Given the description of an element on the screen output the (x, y) to click on. 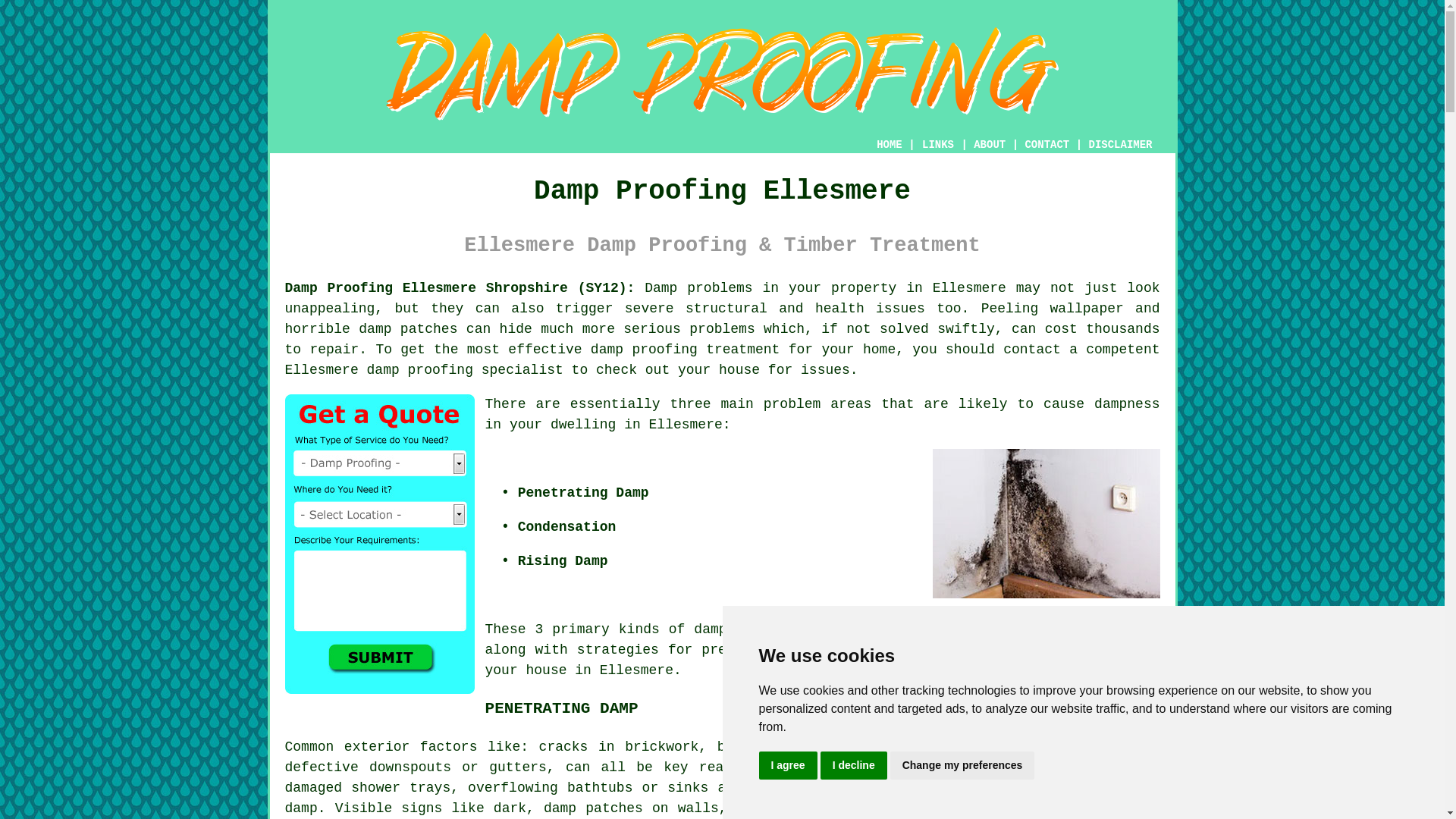
HOME (889, 144)
Damp Proofing Ellesmere (722, 73)
Change my preferences (962, 765)
damp proofing (419, 369)
LINKS (938, 144)
dampness (1126, 403)
I agree (787, 765)
I decline (853, 765)
